Given the description of an element on the screen output the (x, y) to click on. 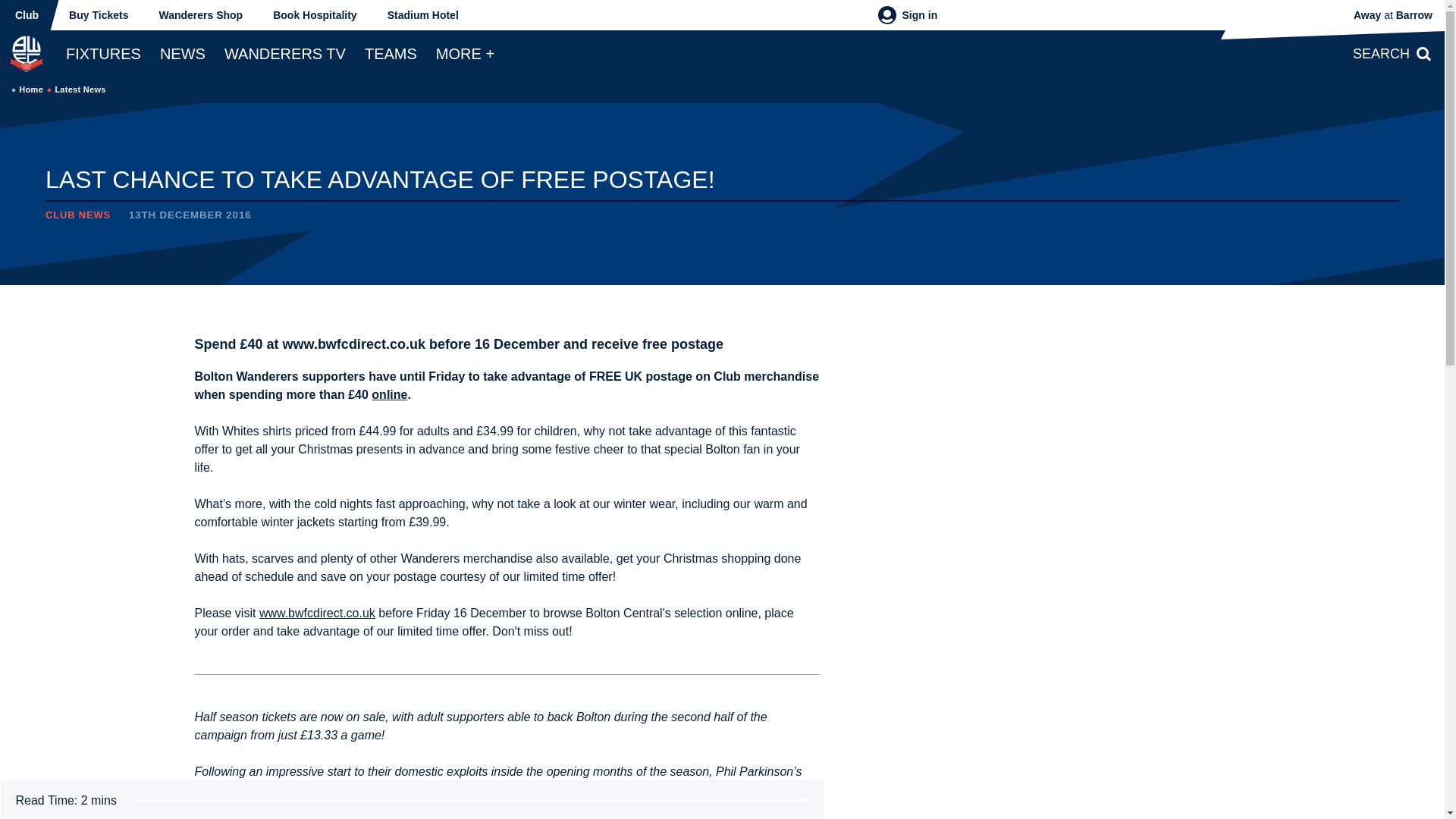
Back to home (25, 53)
News (182, 53)
Book Hospitality (314, 15)
Wanderers Shop (199, 15)
Fixtures (103, 53)
Club (26, 15)
Stadium Hotel (423, 15)
FIXTURES (103, 53)
NEWS (182, 53)
